Given the description of an element on the screen output the (x, y) to click on. 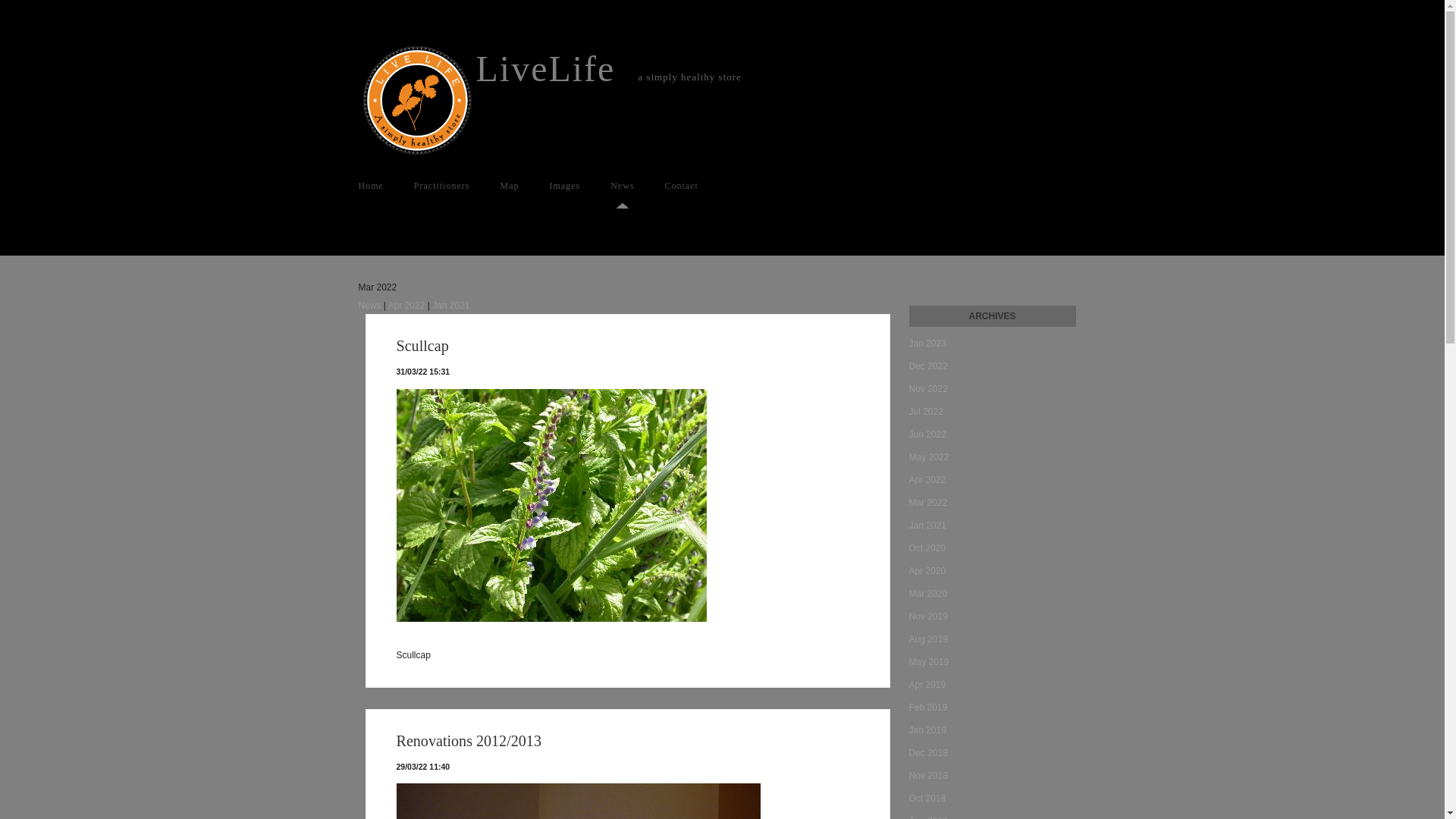
Jan 2021 Element type: text (450, 305)
News Element type: text (368, 305)
Apr 2022 Element type: text (991, 479)
Renovations 2012/2013 Element type: text (467, 740)
Practitioners Element type: text (442, 185)
Scullcap Element type: text (421, 345)
Nov 2022 Element type: text (991, 388)
Apr 2020 Element type: text (991, 570)
Home Element type: text (369, 185)
Jan 2023 Element type: text (991, 343)
Nov 2019 Element type: text (991, 616)
Images Element type: text (564, 185)
Jul 2022 Element type: text (991, 411)
Mar 2022 Element type: text (991, 502)
Mar 2020 Element type: text (991, 593)
Feb 2019 Element type: text (991, 707)
Jun 2022 Element type: text (991, 434)
Jan 2019 Element type: text (991, 729)
Contact Element type: text (680, 185)
Home Element type: hover (416, 101)
Dec 2018 Element type: text (991, 752)
Oct 2018 Element type: text (991, 798)
News Element type: text (621, 185)
May 2019 Element type: text (991, 661)
Apr 2019 Element type: text (991, 684)
Nov 2018 Element type: text (991, 775)
Apr 2022 Element type: text (406, 305)
Aug 2019 Element type: text (991, 638)
May 2022 Element type: text (991, 456)
Dec 2022 Element type: text (991, 365)
Oct 2020 Element type: text (991, 547)
Jan 2021 Element type: text (991, 525)
Map Element type: text (508, 185)
